Given the description of an element on the screen output the (x, y) to click on. 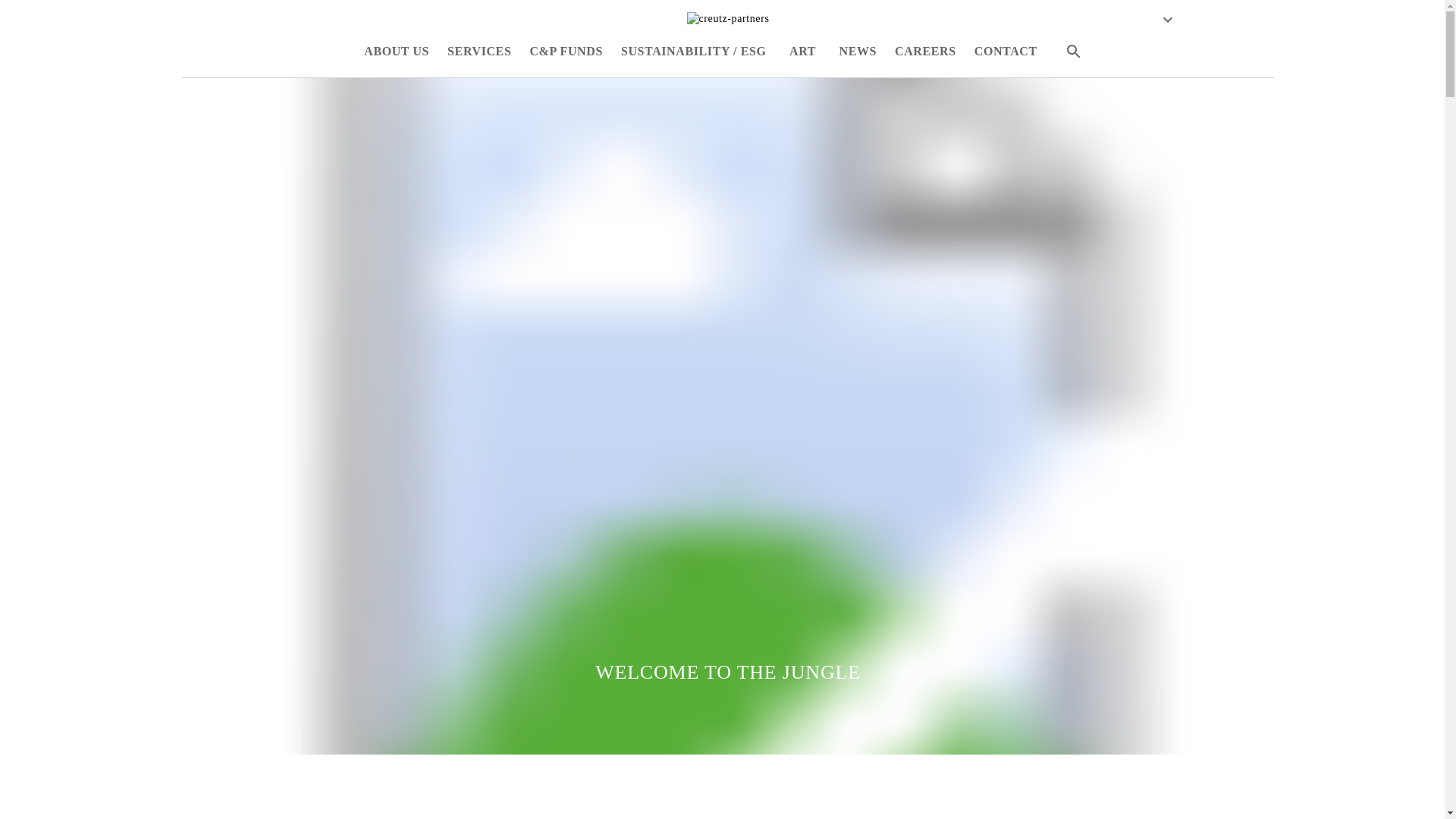
SERVICES (478, 51)
CAREERS (925, 51)
CONTACT (1005, 51)
ABOUT US (396, 51)
ART (802, 51)
NEWS (857, 51)
